Given the description of an element on the screen output the (x, y) to click on. 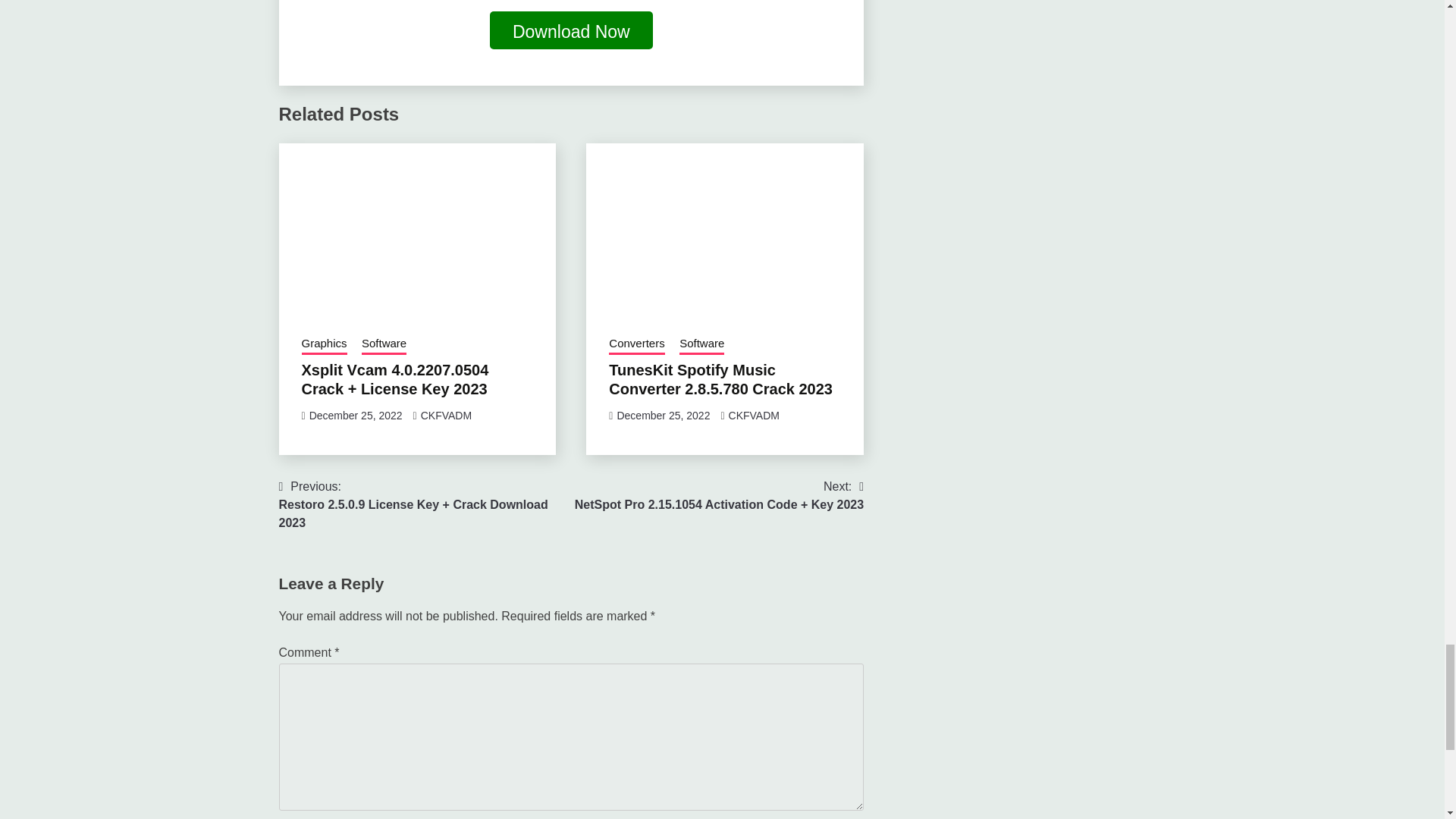
Download Now (570, 33)
Download Now (570, 30)
